Given the description of an element on the screen output the (x, y) to click on. 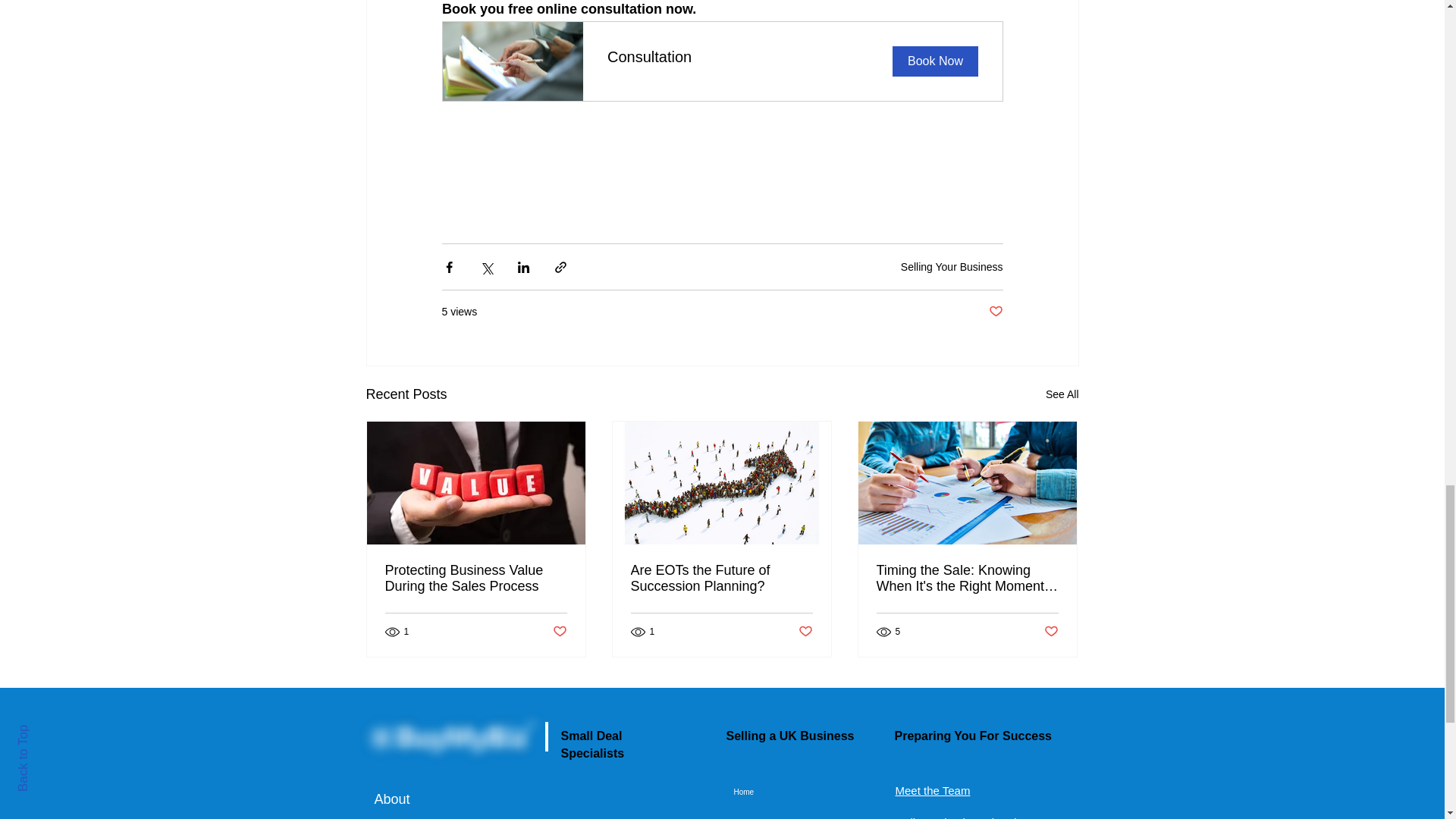
Selling Your Business (722, 61)
Are EOTs the Future of Succession Planning? (952, 266)
See All (721, 578)
Post not marked as liked (1061, 394)
Post not marked as liked (804, 631)
Protecting Business Value During the Sales Process (995, 311)
Post not marked as liked (476, 578)
Post not marked as liked (558, 631)
